Given the description of an element on the screen output the (x, y) to click on. 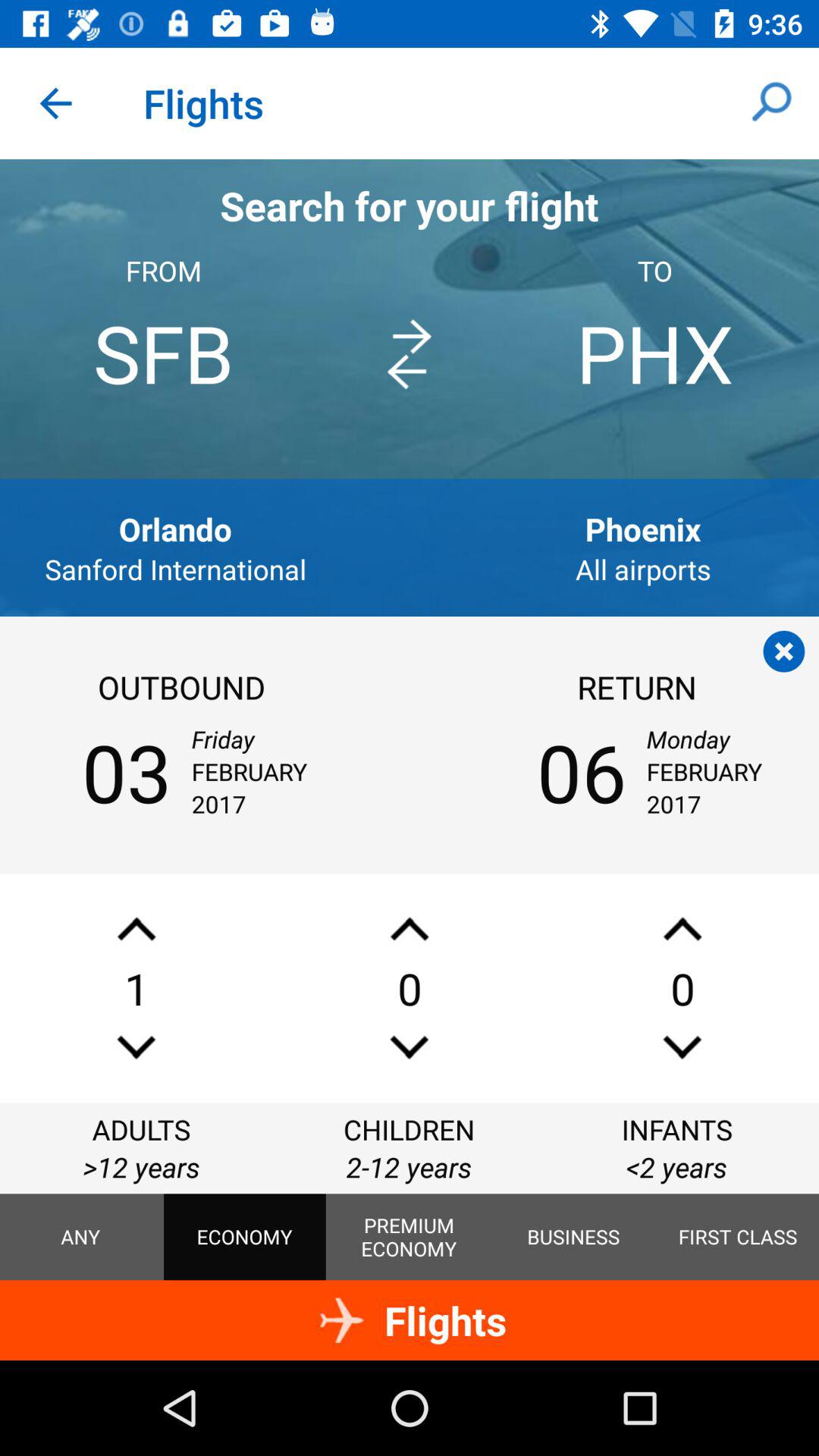
decrease number of adults (136, 1047)
